Given the description of an element on the screen output the (x, y) to click on. 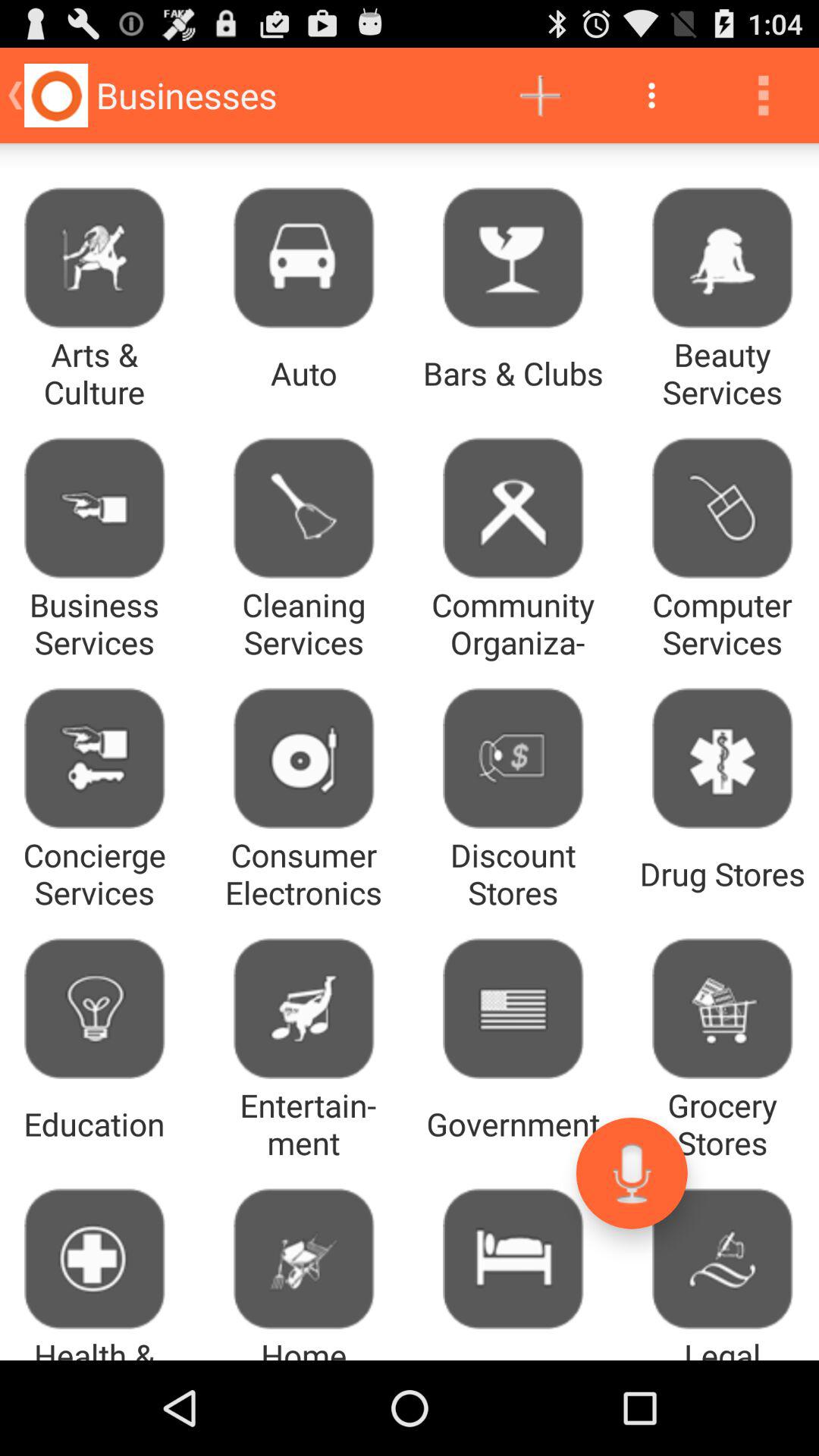
turn on the app next to entertainment item (631, 1173)
